Given the description of an element on the screen output the (x, y) to click on. 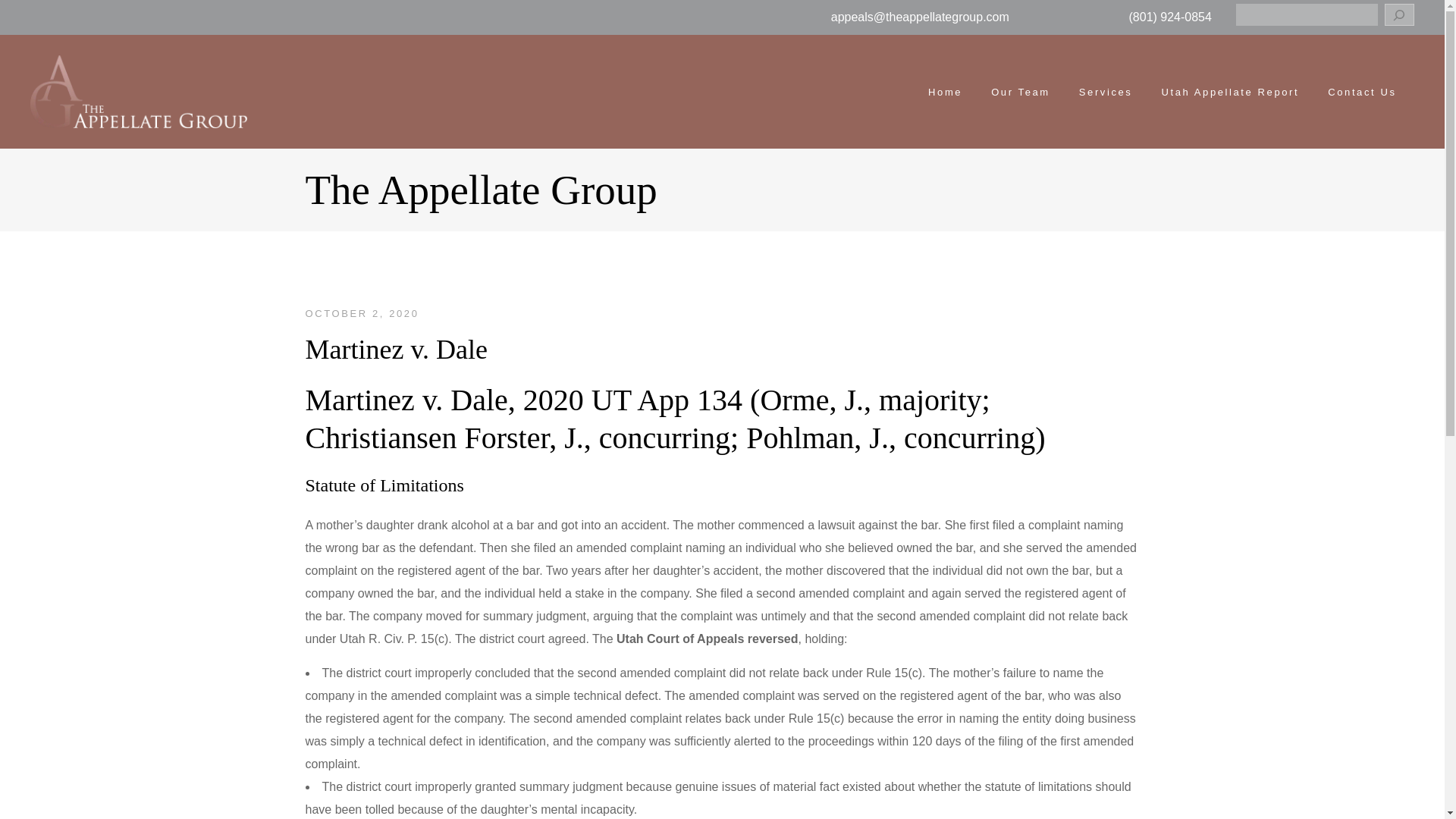
Services (1105, 91)
Contact Us (1361, 91)
Utah Appellate Report (1230, 91)
Home (945, 91)
Our Team (1020, 91)
